Given the description of an element on the screen output the (x, y) to click on. 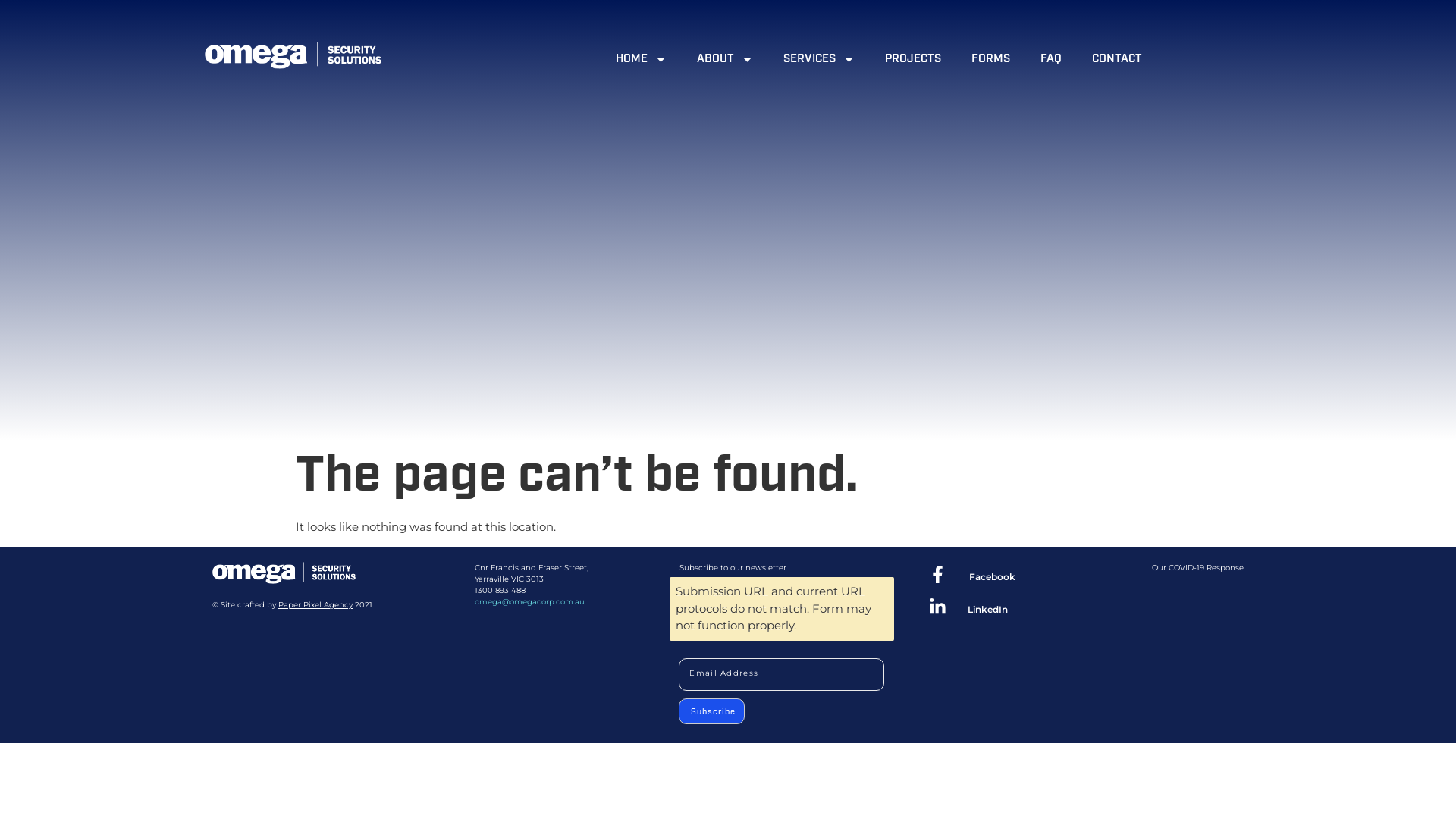
omega@omegacorp.com.au Element type: text (529, 601)
FAQ Element type: text (1050, 58)
CONTACT Element type: text (1116, 58)
LinkedIn Element type: text (987, 609)
SERVICES Element type: text (818, 58)
Paper Pixel Agency Element type: text (315, 604)
HOME Element type: text (640, 58)
PROJECTS Element type: text (912, 58)
Subscribe Element type: text (711, 711)
Facebook Element type: text (992, 576)
FORMS Element type: text (989, 58)
ABOUT Element type: text (723, 58)
